Given the description of an element on the screen output the (x, y) to click on. 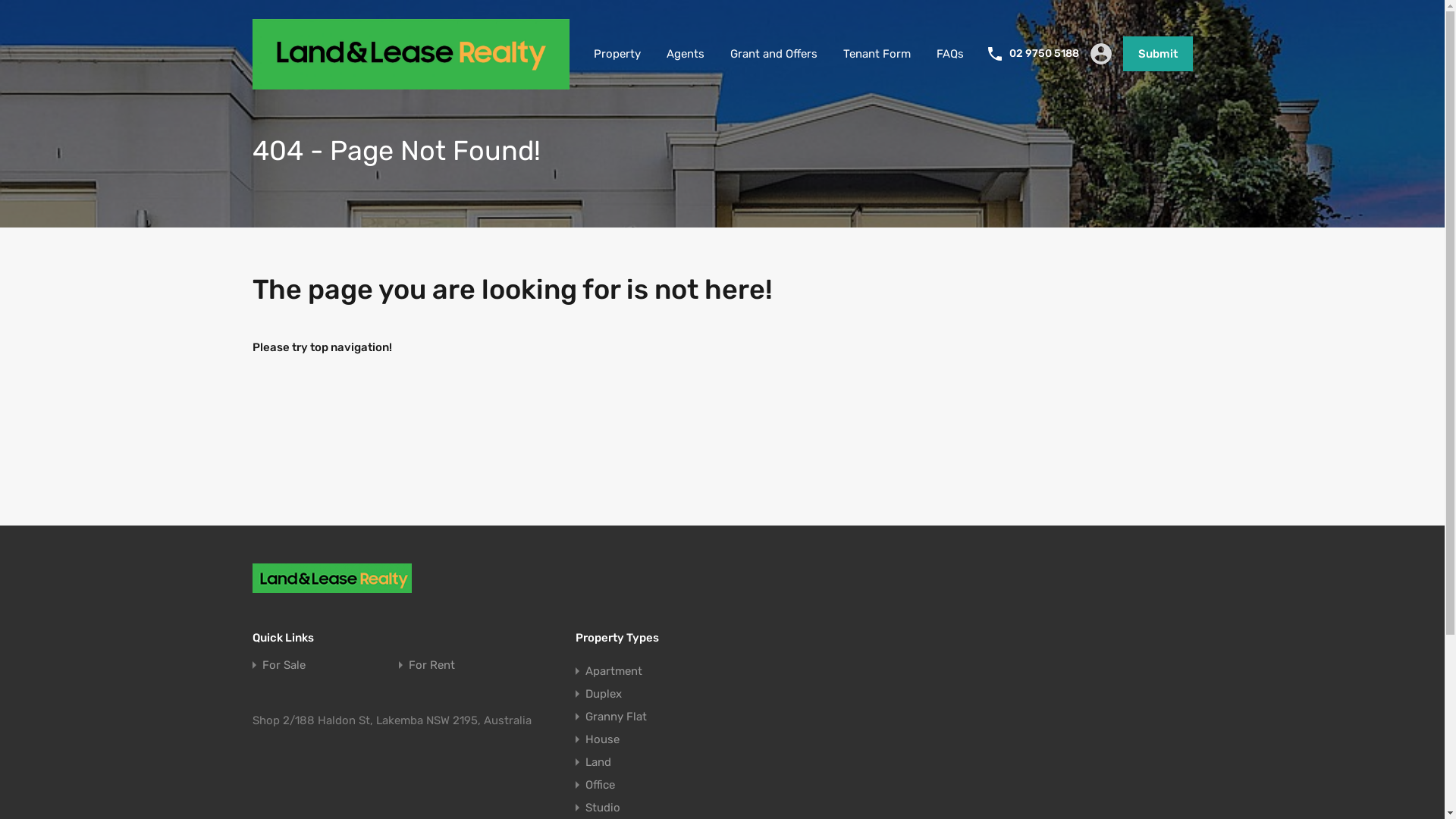
Granny Flat Element type: text (615, 716)
Property Element type: text (616, 53)
Tenant Form Element type: text (875, 53)
Land Element type: text (598, 761)
Apartment Element type: text (613, 670)
Grant and Offers Element type: text (773, 53)
House Element type: text (602, 739)
Duplex Element type: text (603, 693)
02 9750 5188 Element type: text (1043, 53)
Agents Element type: text (685, 53)
Land and Lease Realty Lakemba Element type: hover (336, 578)
For Sale Element type: text (283, 665)
For Rent Element type: text (431, 665)
Office Element type: text (600, 784)
Land and Lease Realty Lakemba Element type: hover (409, 82)
FAQs Element type: text (949, 53)
Submit Element type: text (1157, 53)
